Given the description of an element on the screen output the (x, y) to click on. 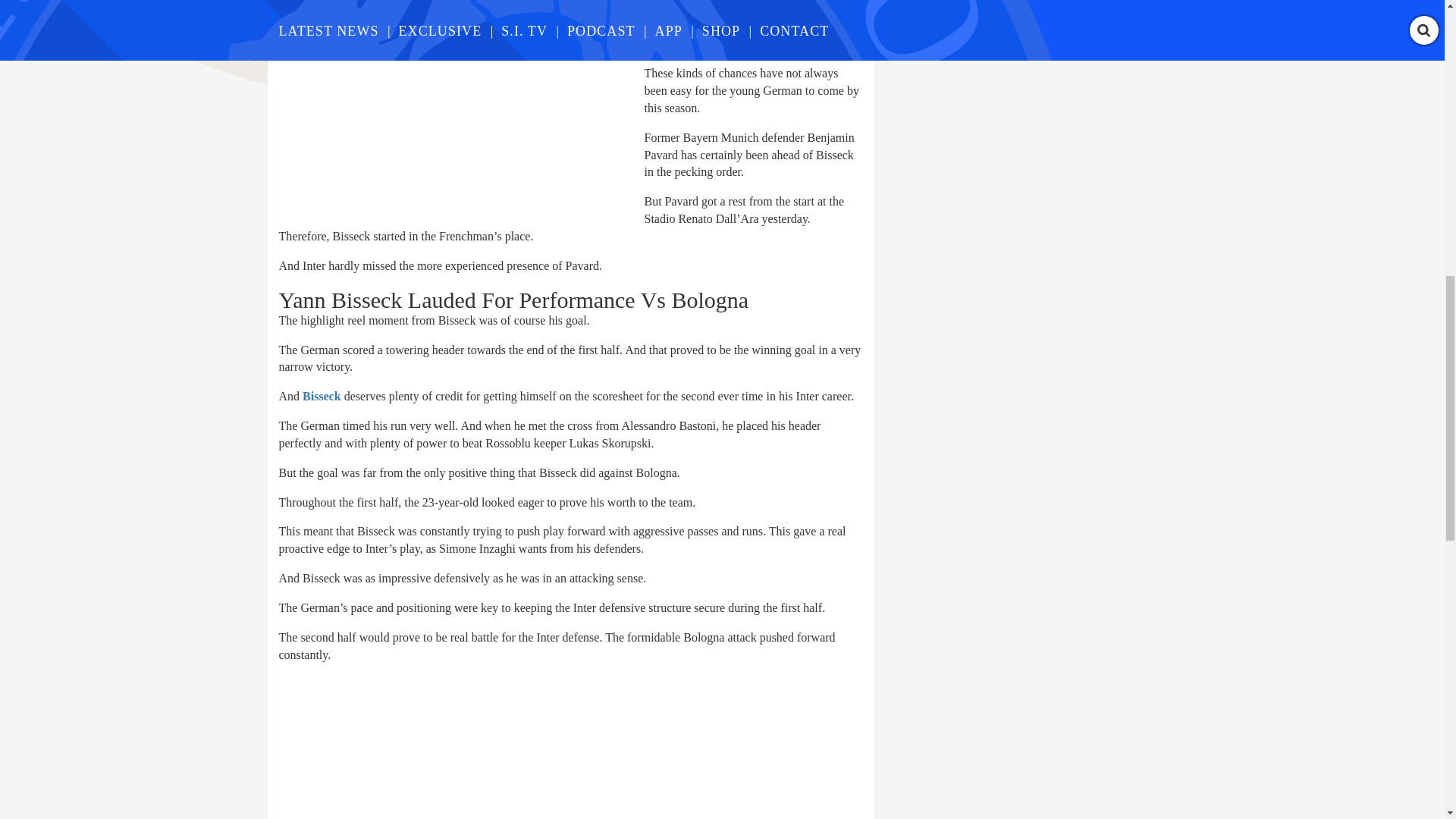
Bisseck (321, 395)
YouTube video player (491, 747)
